Given the description of an element on the screen output the (x, y) to click on. 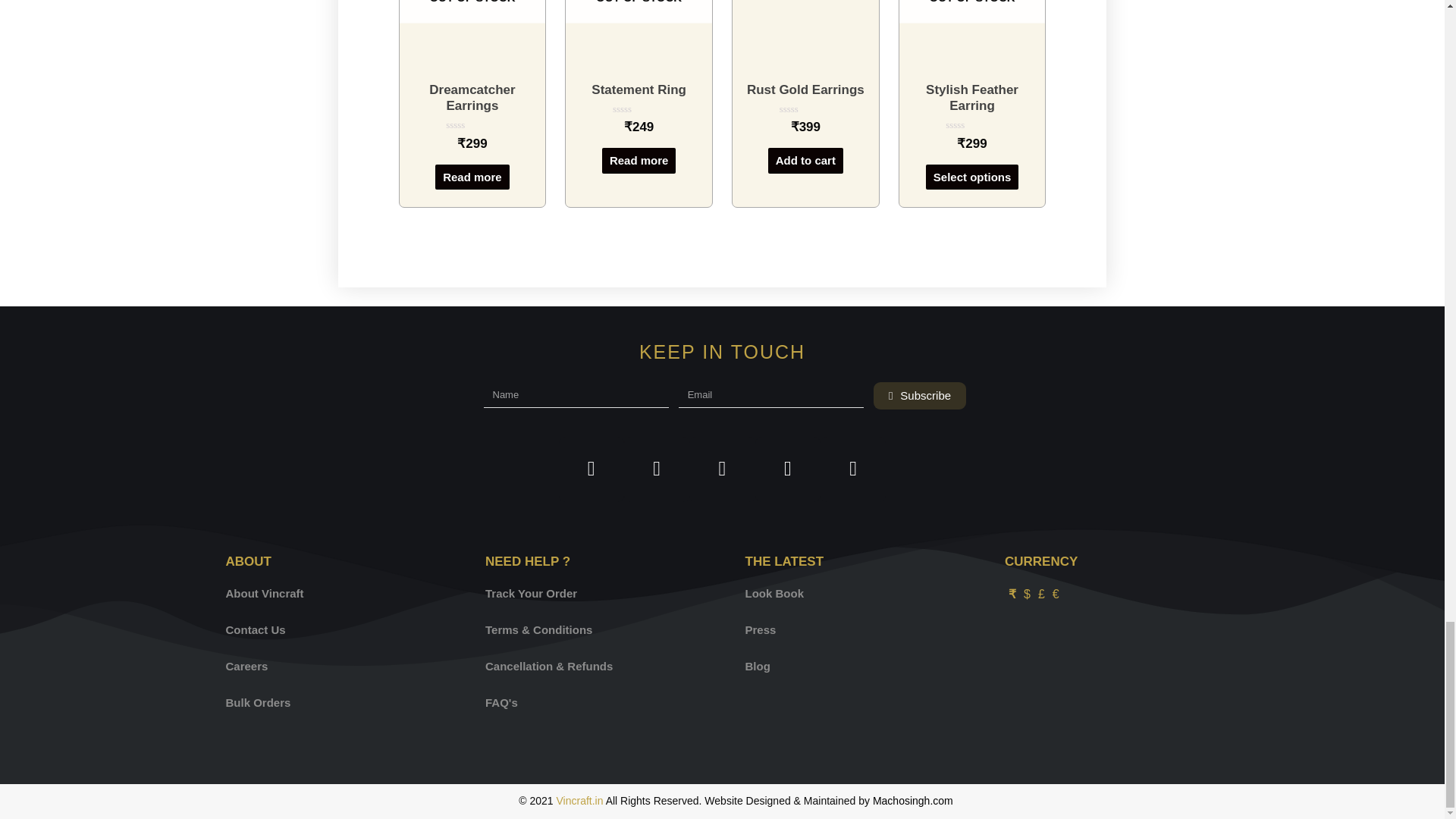
Stylish Feather Earring (972, 97)
Pinterest (788, 469)
Twitter (656, 469)
Read more (639, 160)
Subscribe (919, 395)
Facebook-f (591, 469)
Select options (972, 177)
Linkedin-in (853, 469)
Statement Ring (638, 89)
Add to cart (805, 160)
Rust Gold Earrings (804, 89)
Read more (472, 177)
Instagram (721, 469)
About Vincraft (333, 593)
Dreamcatcher Earrings (472, 97)
